Given the description of an element on the screen output the (x, y) to click on. 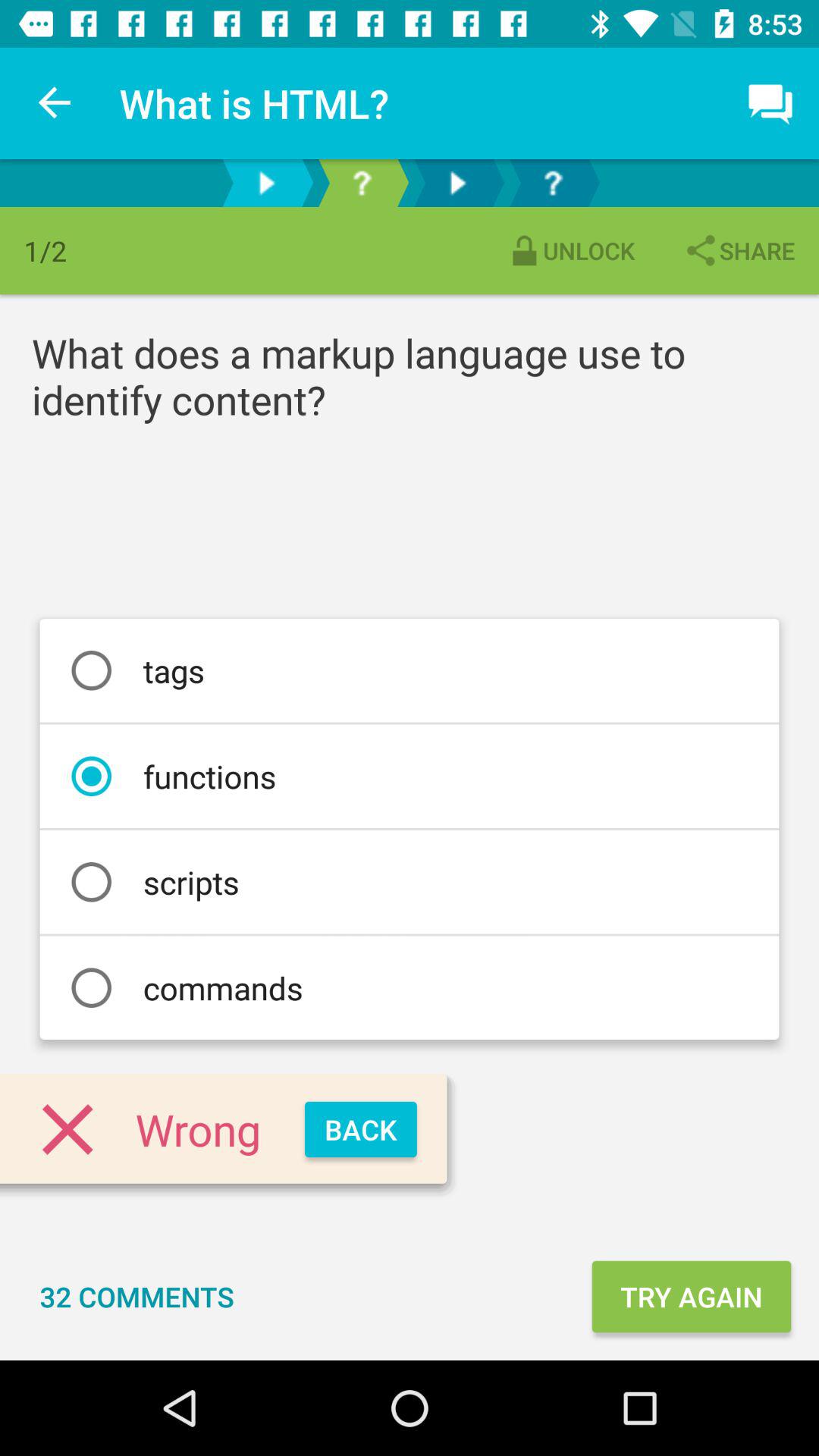
choose the item next to the wrong icon (360, 1129)
